Given the description of an element on the screen output the (x, y) to click on. 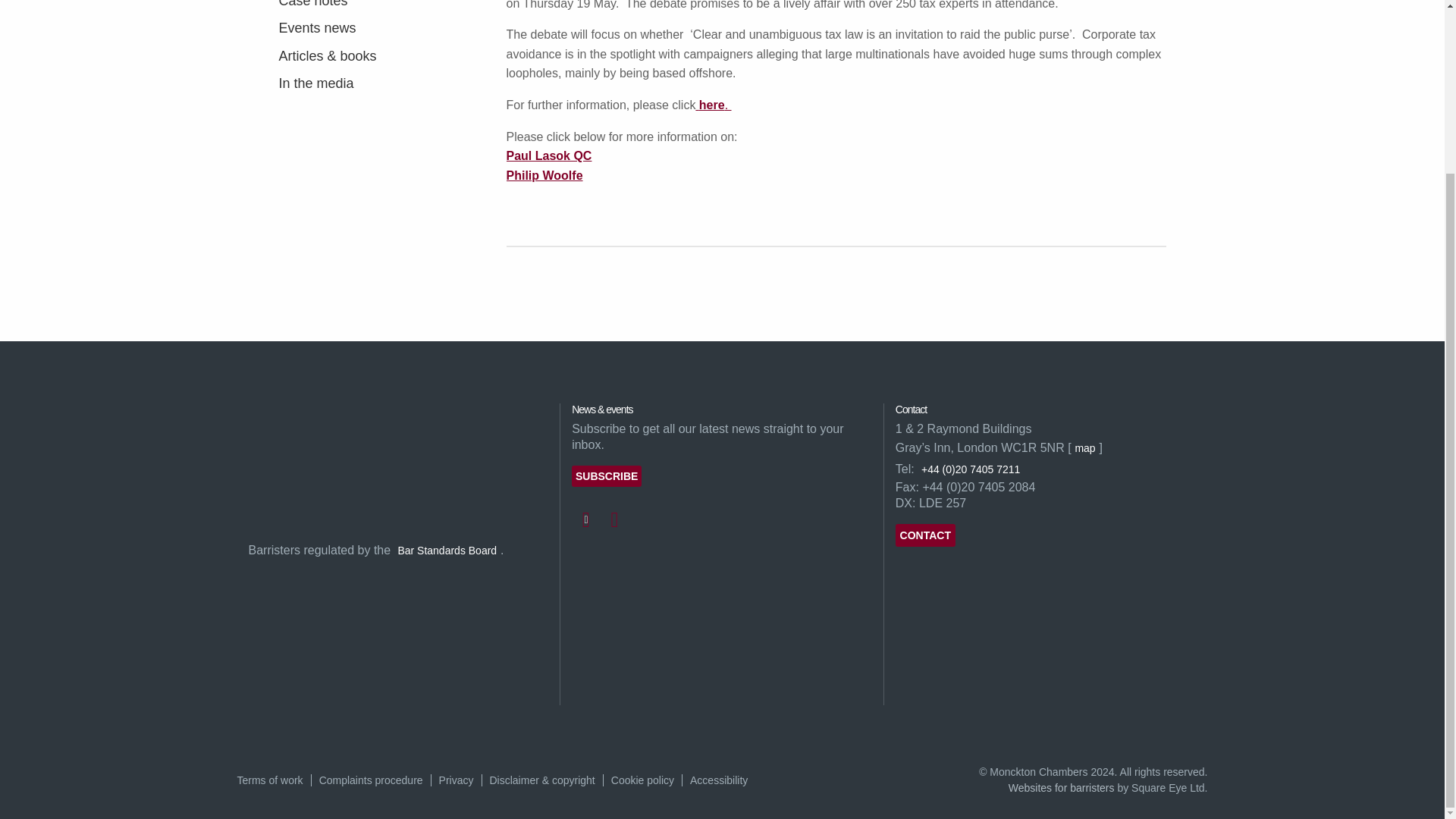
Philip Woolfe (544, 175)
Paul Lasok QC (549, 155)
